Given the description of an element on the screen output the (x, y) to click on. 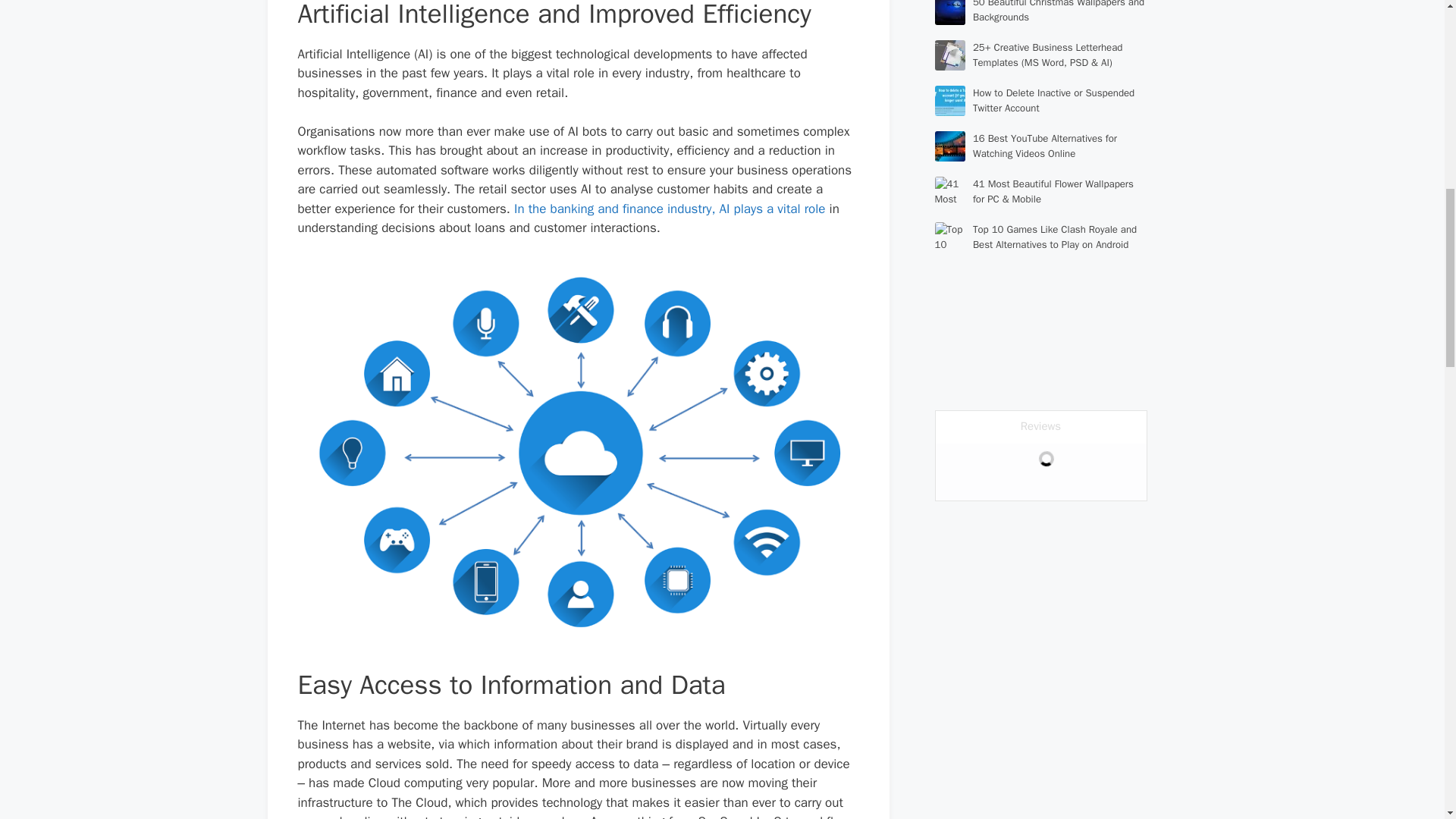
In the banking and finance industry, AI plays a vital role (669, 208)
How to Delete Inactive or Suspended Twitter Account (1053, 100)
50 Beautiful Christmas Wallpapers and Backgrounds (1058, 11)
